Given the description of an element on the screen output the (x, y) to click on. 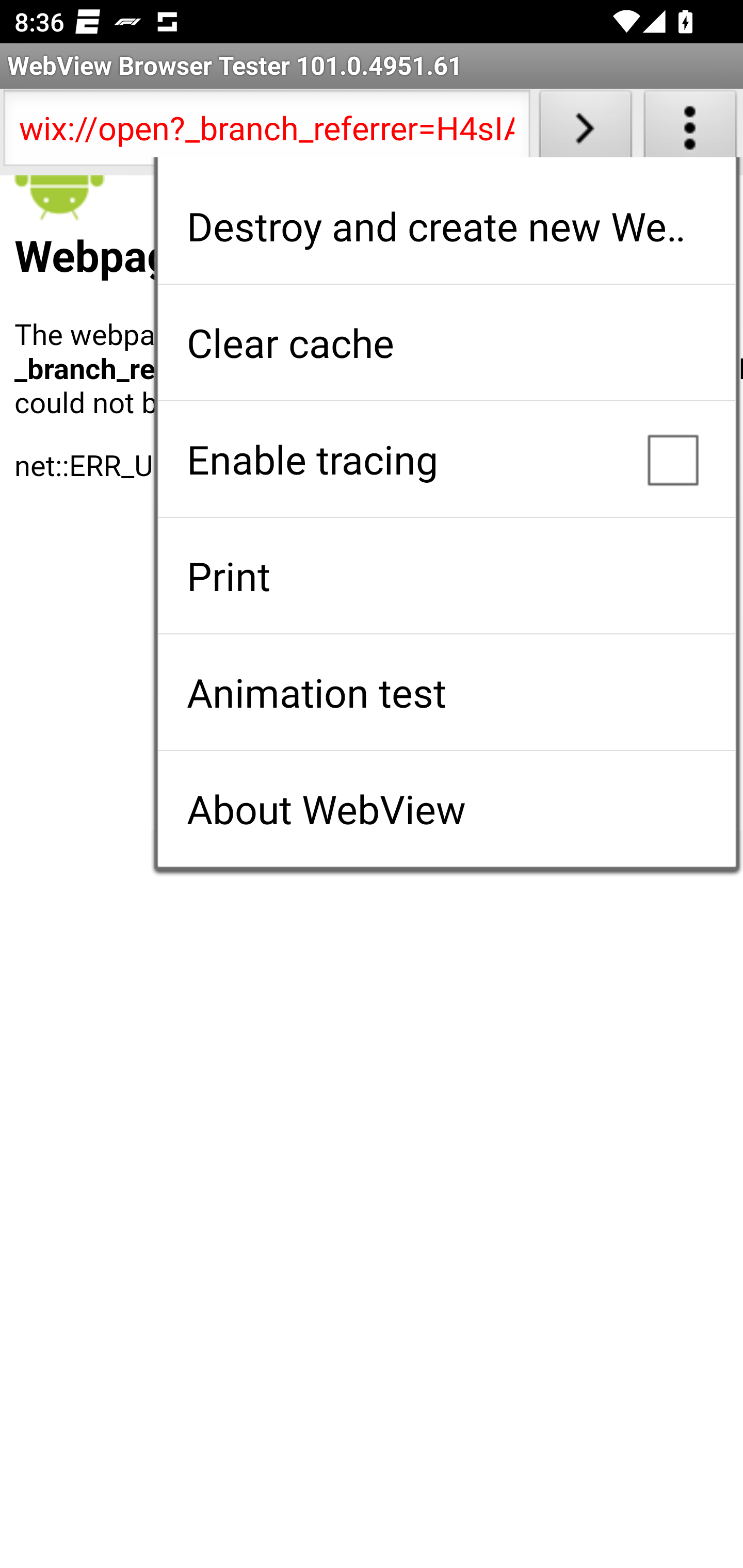
Destroy and create new WebView (446, 225)
Clear cache (446, 342)
Enable tracing (446, 459)
Print (446, 575)
Animation test (446, 692)
About WebView (446, 809)
